Given the description of an element on the screen output the (x, y) to click on. 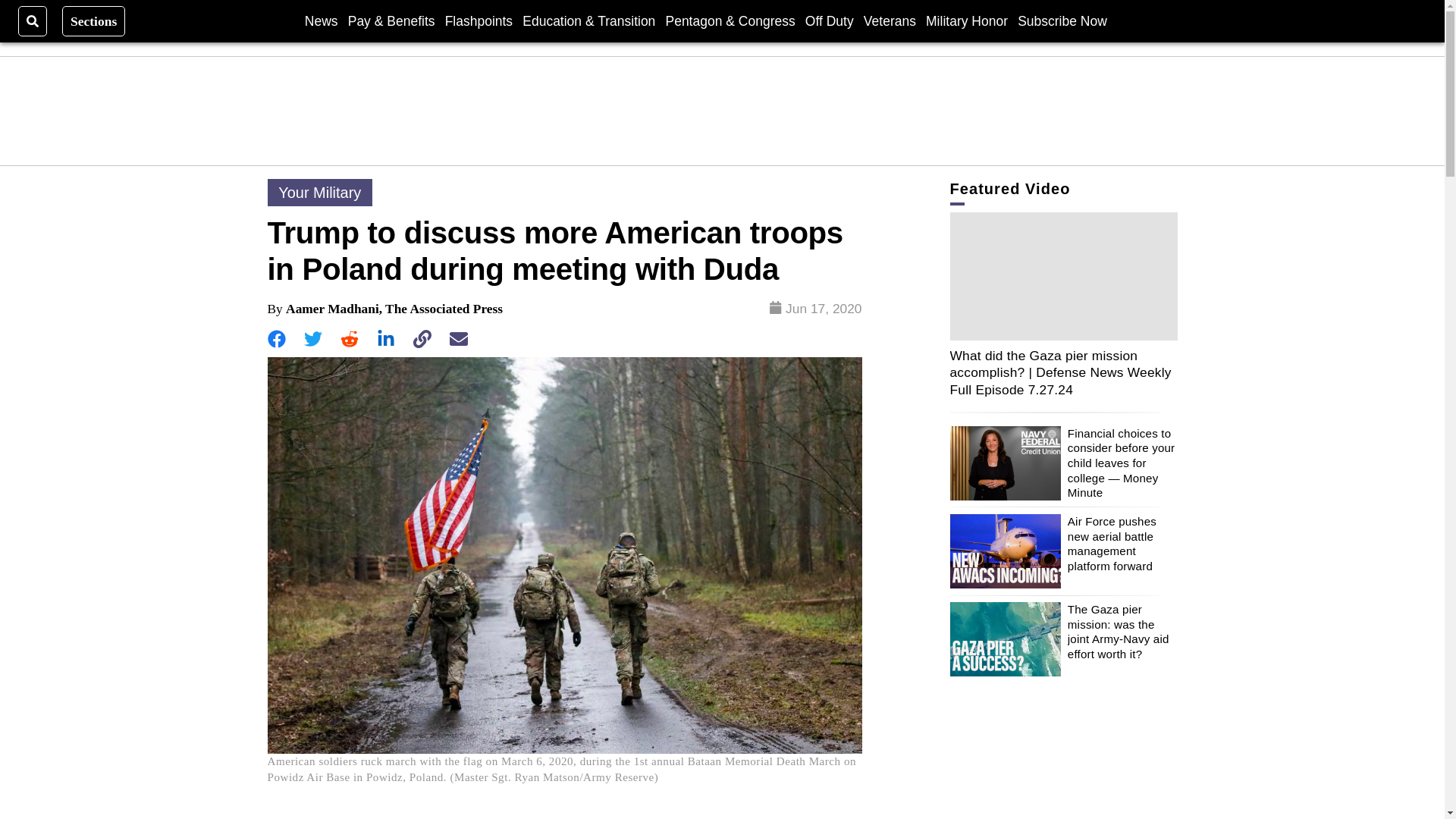
News (320, 20)
Flashpoints (479, 20)
Military Honor (966, 20)
Sections (93, 20)
Off Duty (829, 20)
Veterans (889, 20)
